Given the description of an element on the screen output the (x, y) to click on. 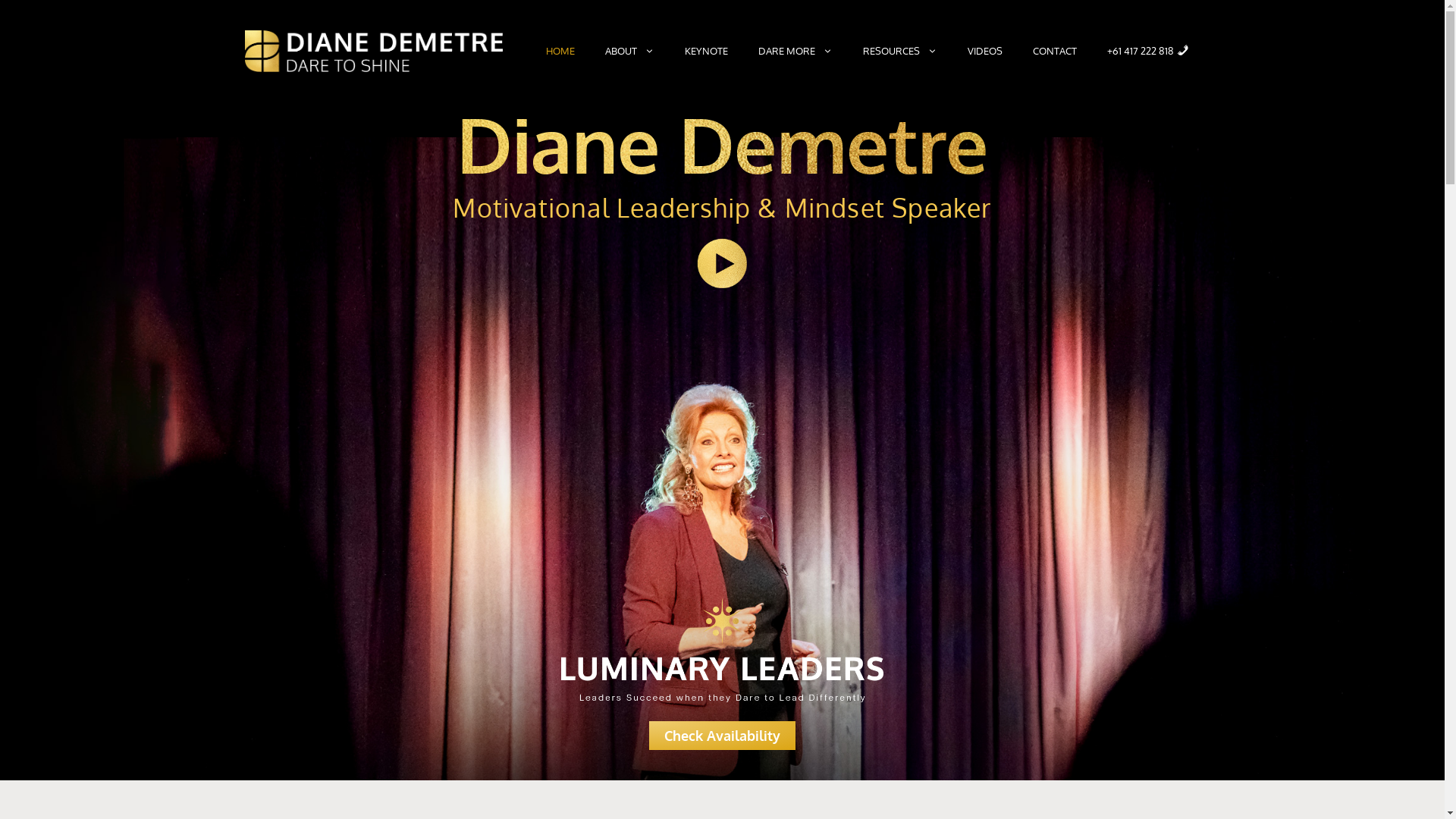
RESOURCES Element type: text (899, 50)
VIDEOS Element type: text (984, 50)
DARE MORE Element type: text (795, 50)
ABOUT Element type: text (629, 50)
HOME Element type: text (560, 50)
KEYNOTE Element type: text (706, 50)
Check Availability Element type: text (722, 735)
CONTACT Element type: text (1054, 50)
+61 417 222 818 Element type: text (1147, 50)
